Given the description of an element on the screen output the (x, y) to click on. 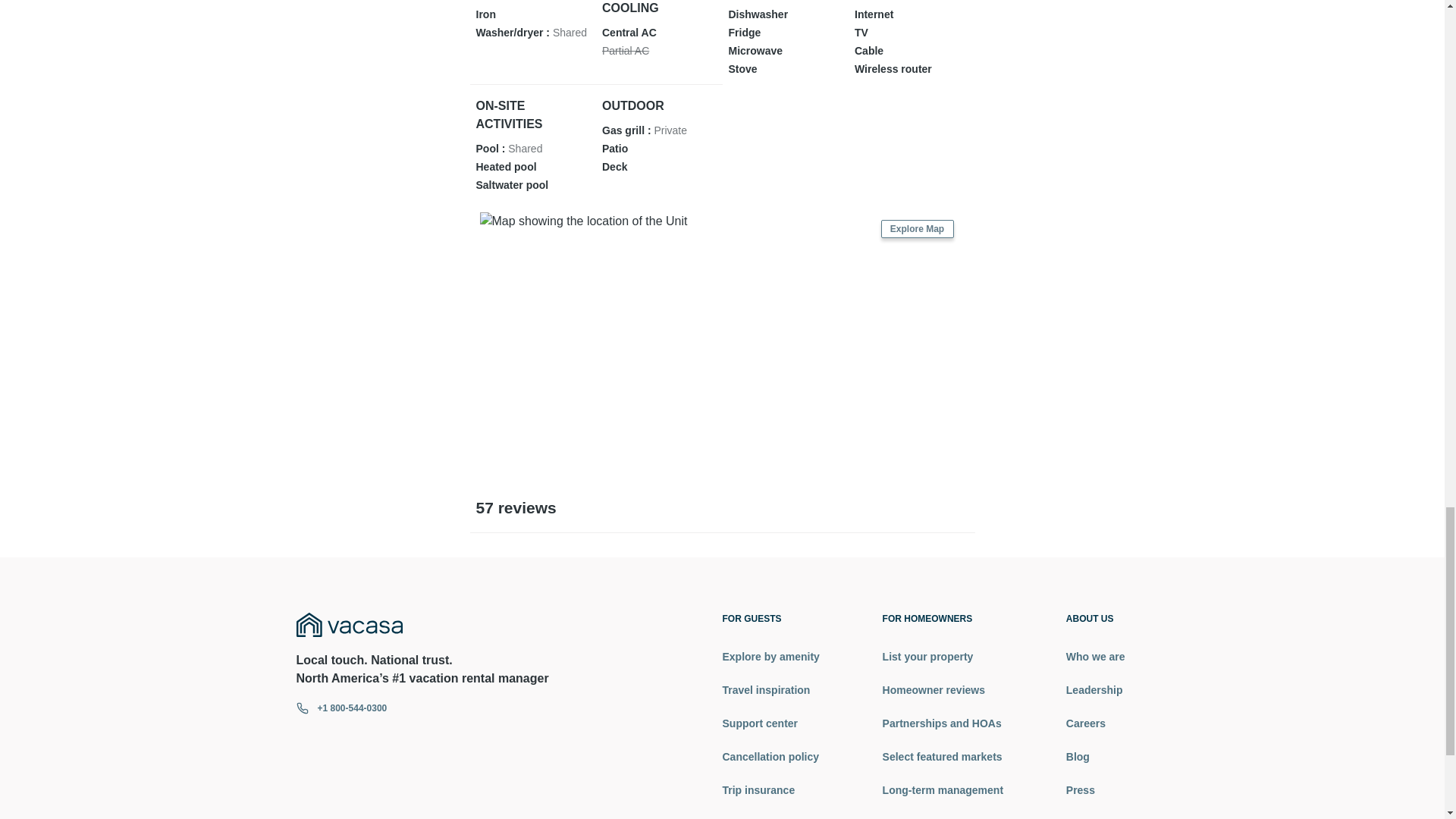
Trip insurance (770, 789)
Explore by amenity (770, 656)
Select featured markets (942, 756)
Cancellation policy (770, 756)
List your property (942, 656)
Travel inspiration (770, 689)
Explore Map (916, 229)
Homeowner reviews (942, 689)
Support center (770, 723)
Affirm financing (770, 817)
Partnerships and HOAs (942, 723)
